Given the description of an element on the screen output the (x, y) to click on. 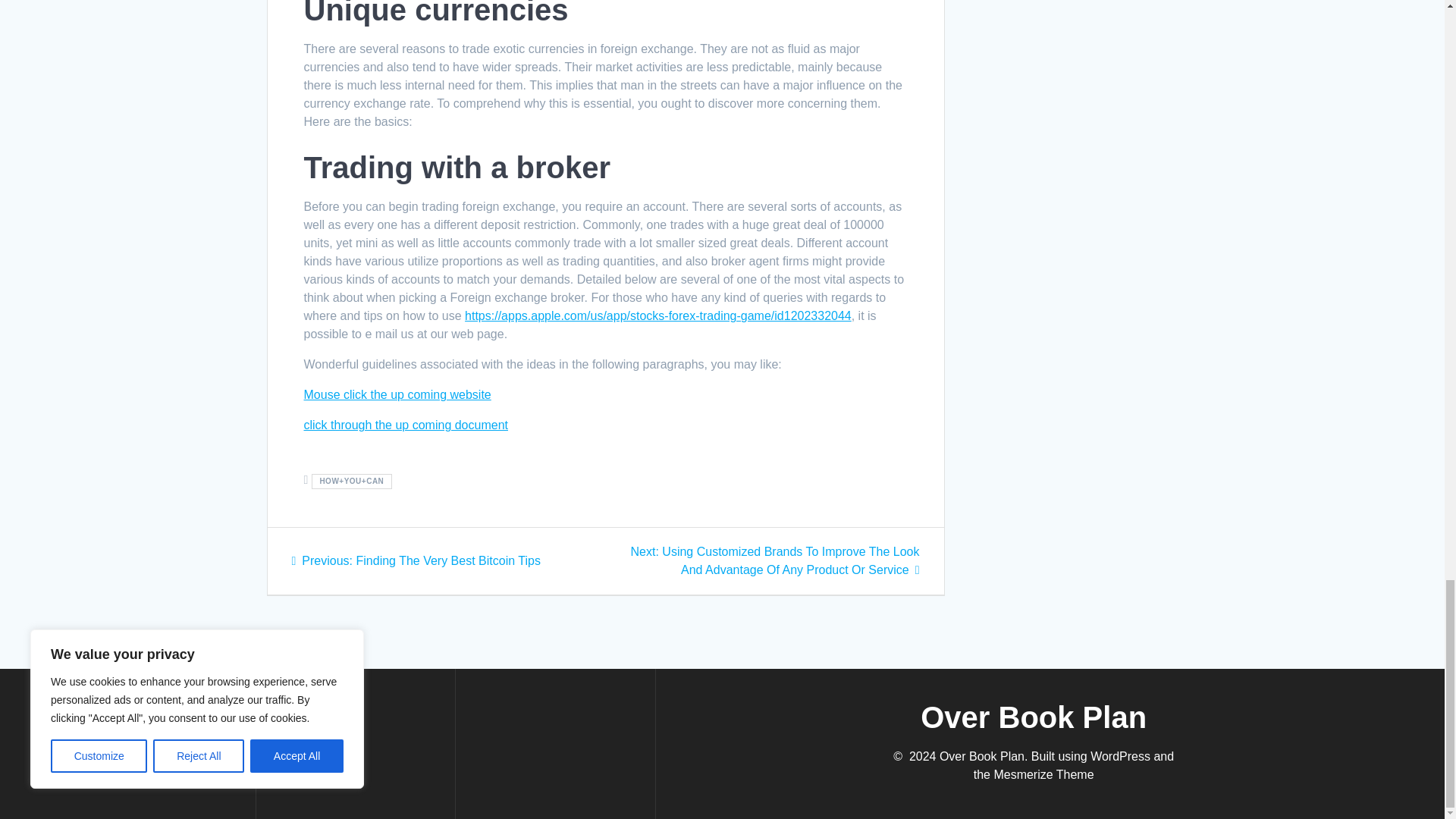
click through the up coming document (415, 560)
Mouse click the up coming website (404, 424)
